Given the description of an element on the screen output the (x, y) to click on. 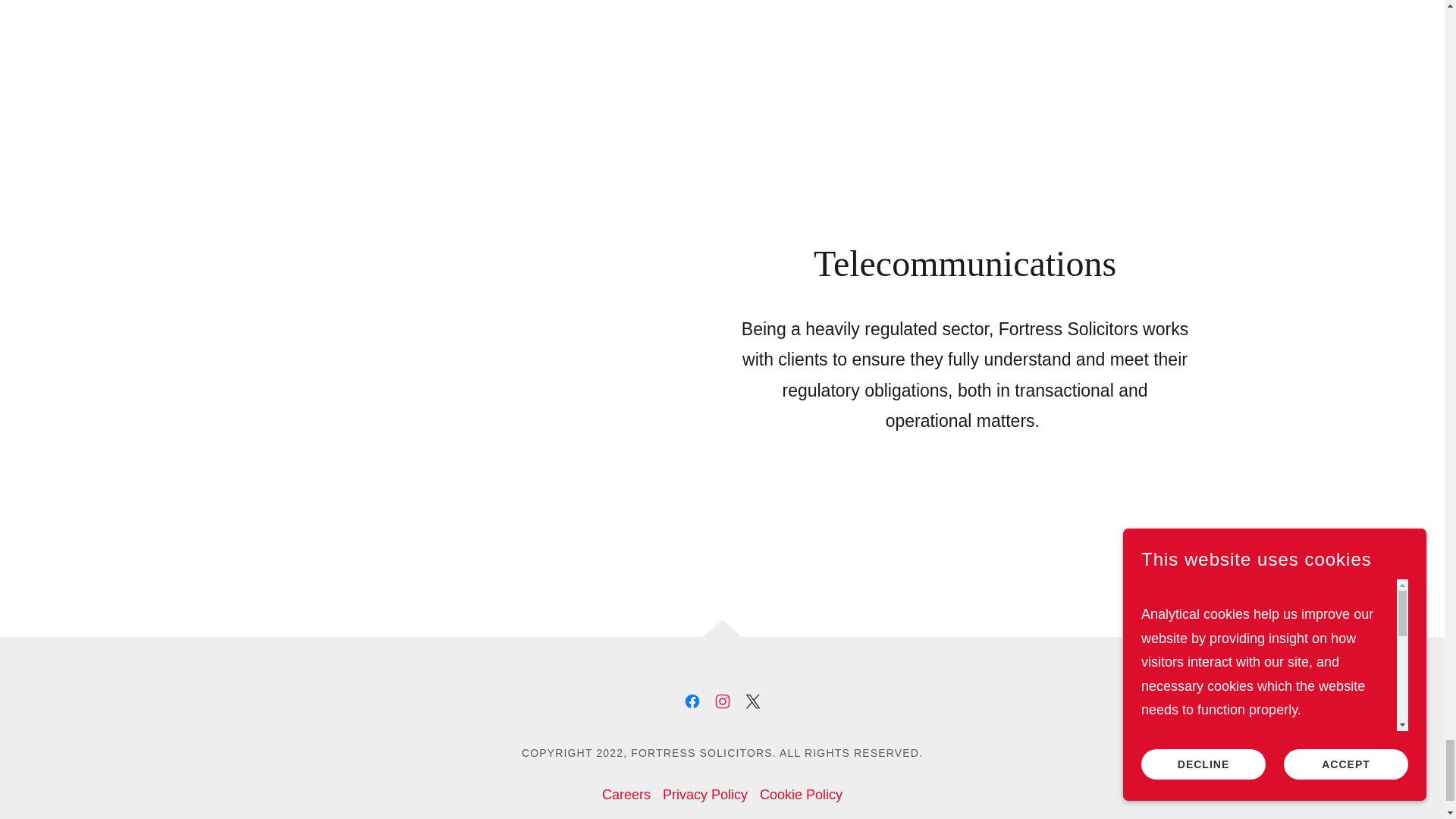
Careers (625, 785)
Privacy Policy (705, 785)
Cookie Policy (801, 785)
